Given the description of an element on the screen output the (x, y) to click on. 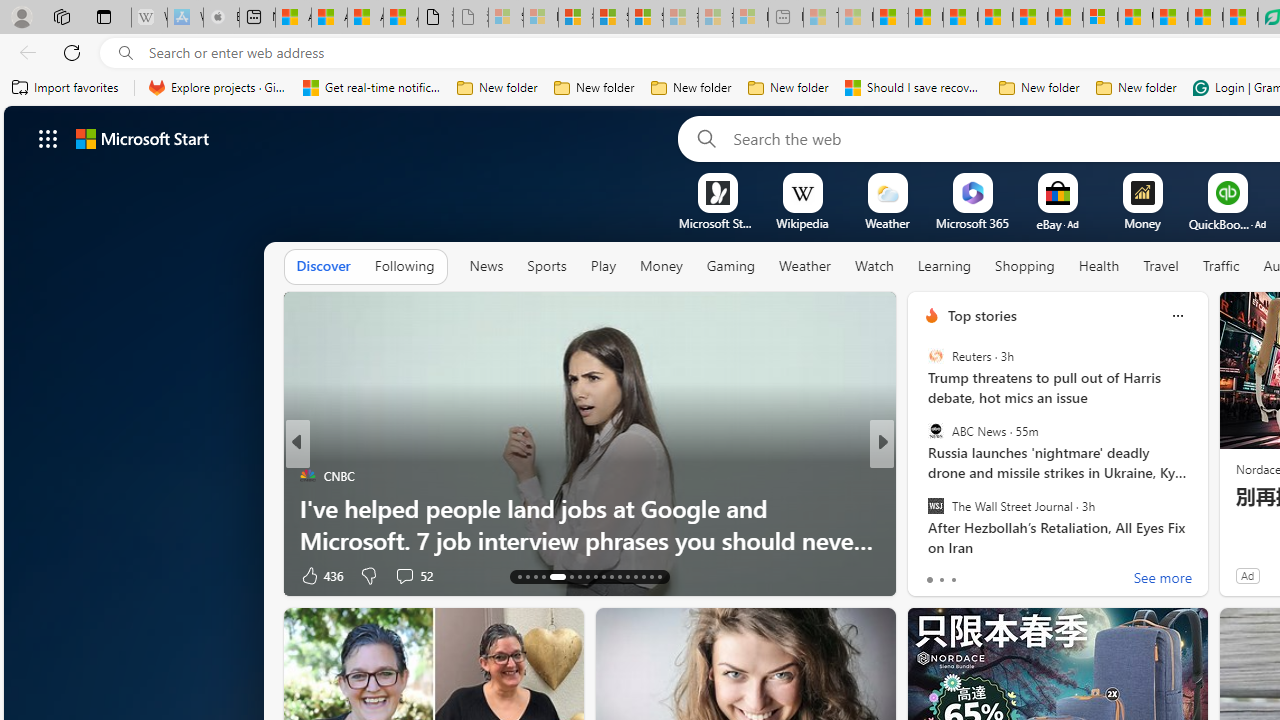
Drinking tea every day is proven to delay biological aging (995, 17)
436 Like (320, 574)
tab-2 (953, 579)
Search icon (125, 53)
Live Science (923, 475)
AutomationID: tab-16 (542, 576)
Top Stories - MSN - Sleeping (820, 17)
7 Like (930, 574)
IT Concept (943, 507)
